Given the description of an element on the screen output the (x, y) to click on. 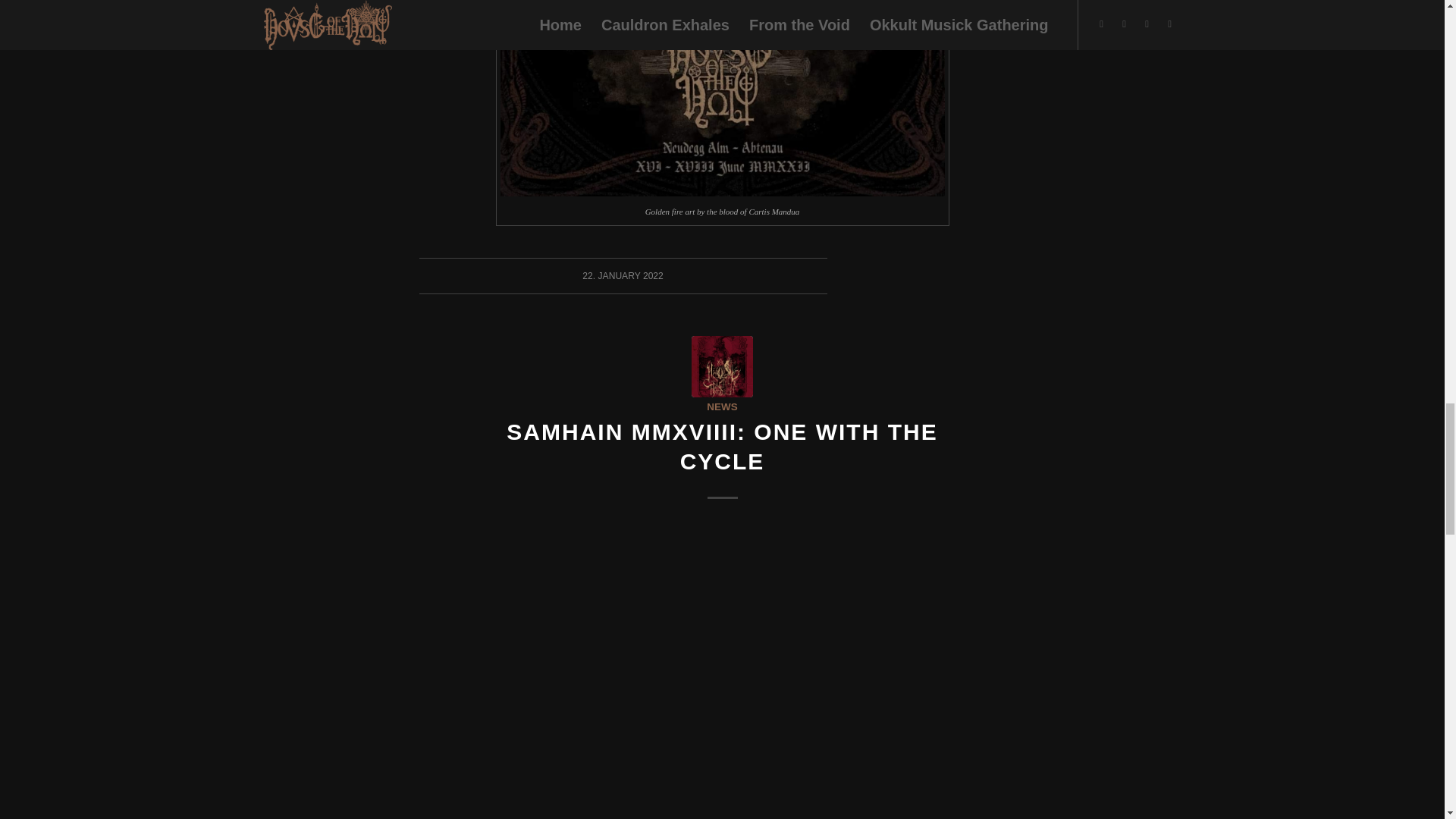
SAMHAIN MMXVIIII: ONE WITH THE CYCLE (721, 446)
NEWS (721, 406)
HOTHIII (721, 366)
Permanent Link: Samhain MMXVIIII: One with the Cycle (721, 446)
